Given the description of an element on the screen output the (x, y) to click on. 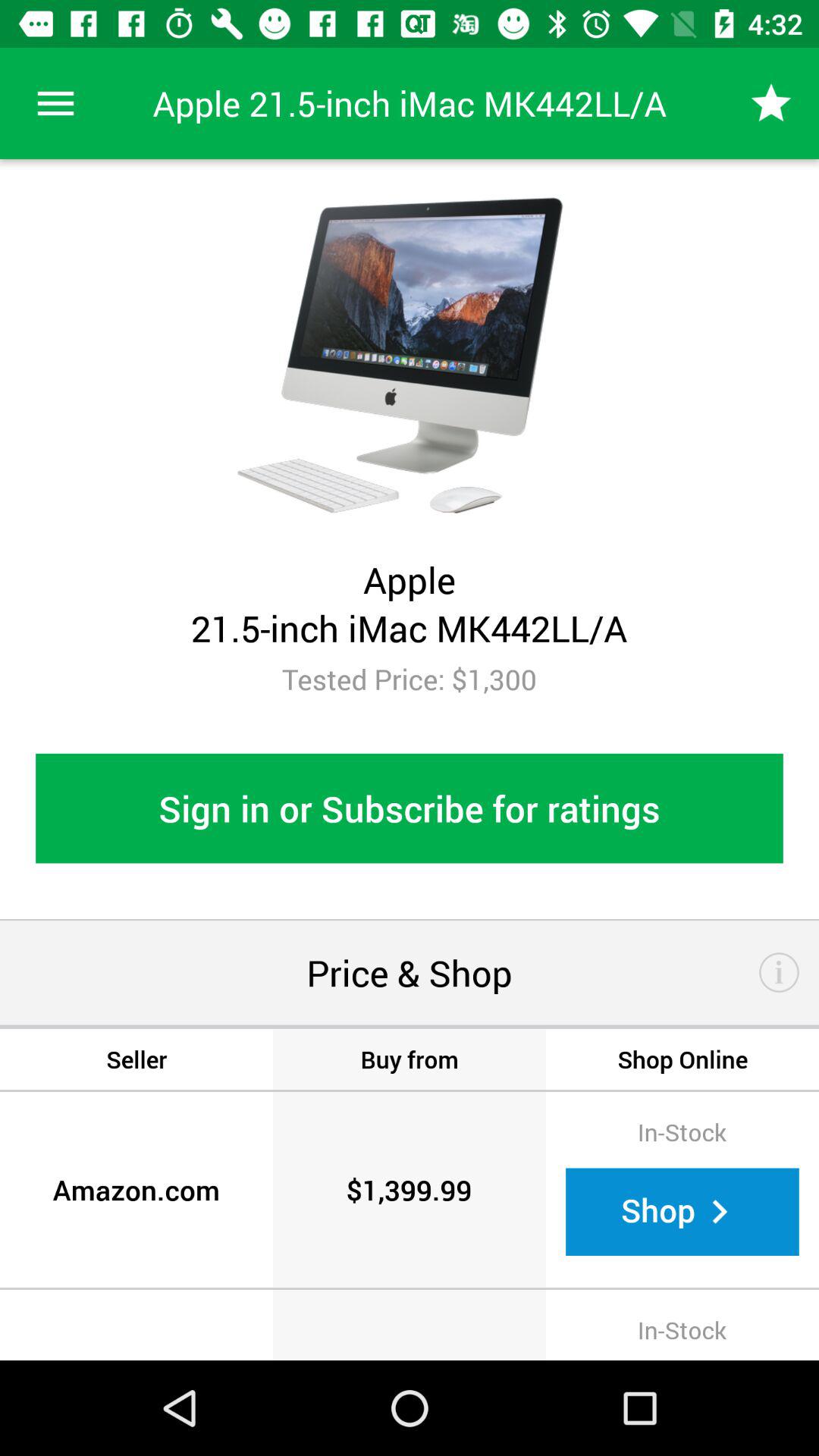
turn on item to the right of price & shop item (779, 972)
